Given the description of an element on the screen output the (x, y) to click on. 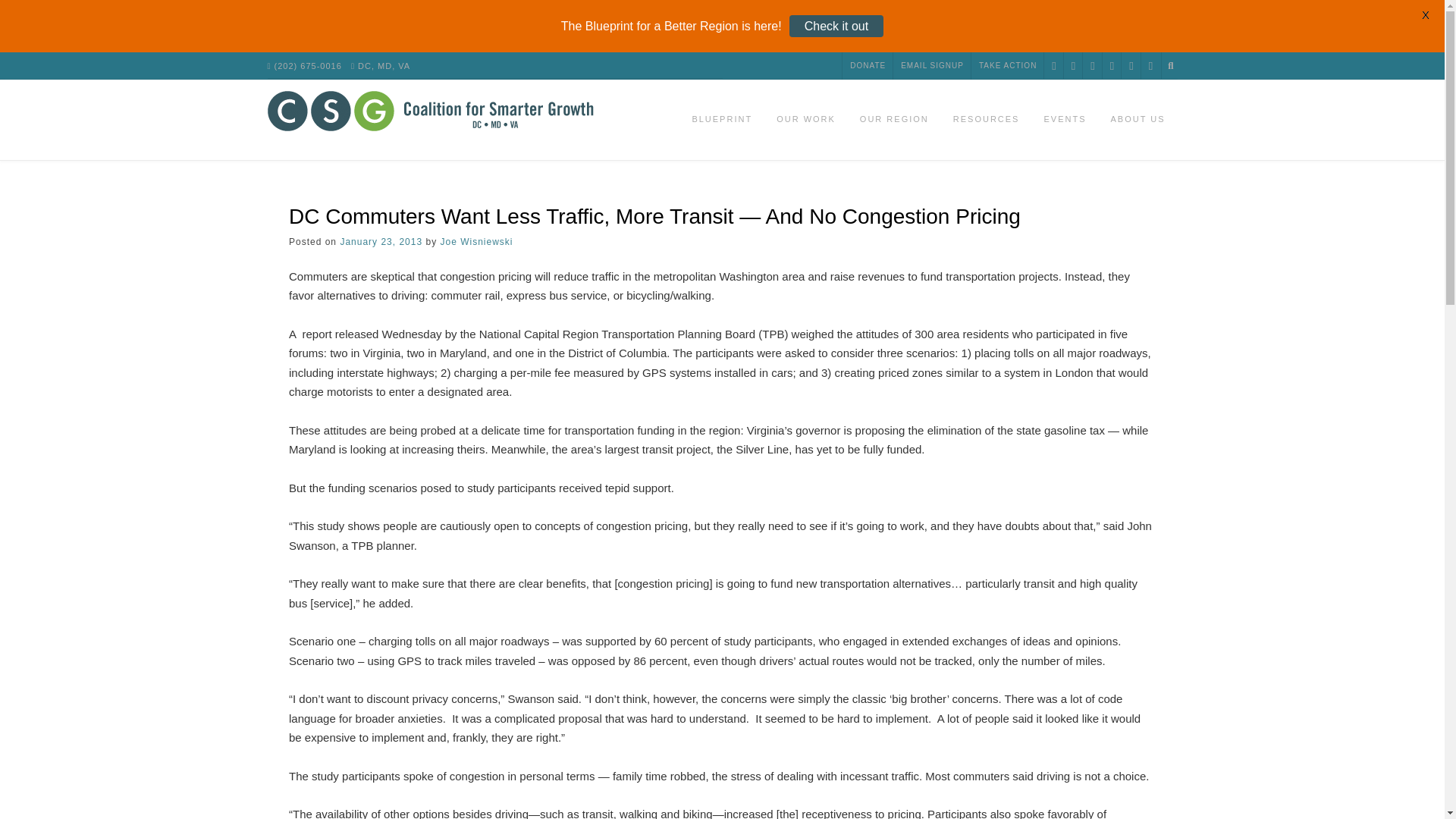
TAKE ACTION (1007, 65)
BLUEPRINT (721, 119)
OUR WORK (805, 119)
EMAIL SIGNUP (932, 65)
DONATE (868, 65)
